Given the description of an element on the screen output the (x, y) to click on. 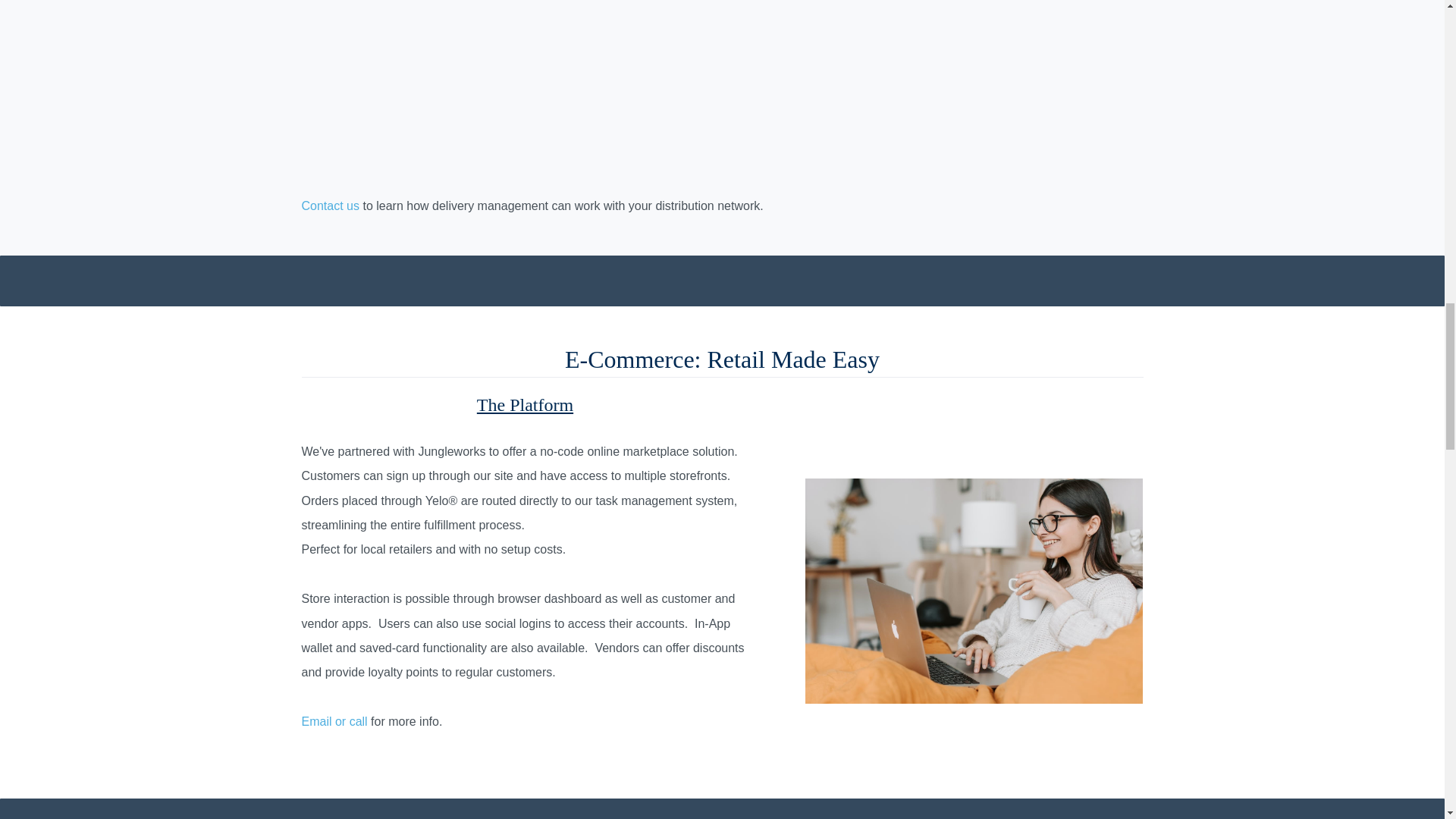
Contact us (330, 205)
Contact us (330, 205)
Email or call (334, 721)
Email or call (334, 721)
